Given the description of an element on the screen output the (x, y) to click on. 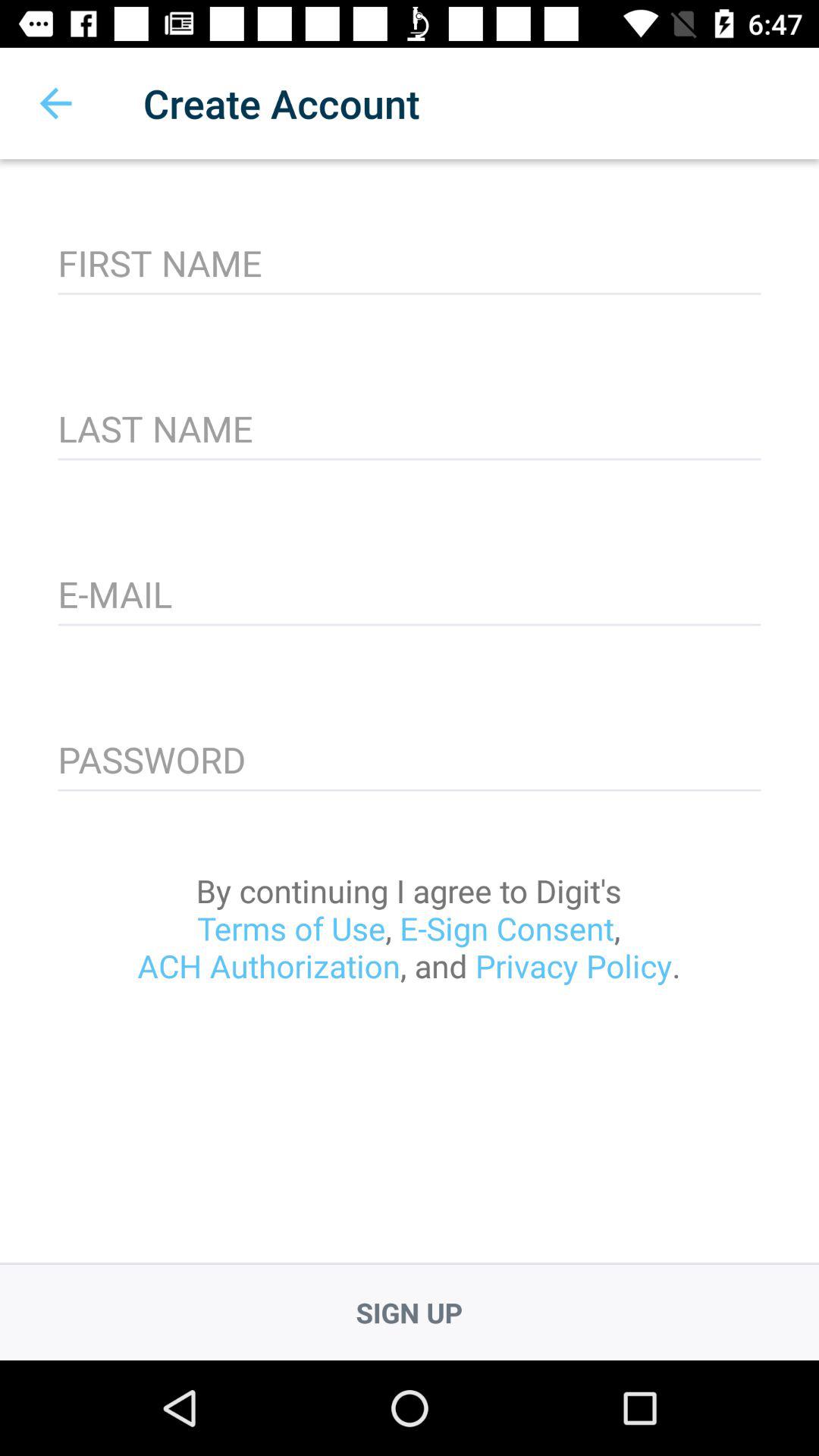
press the by continuing i (408, 928)
